Given the description of an element on the screen output the (x, y) to click on. 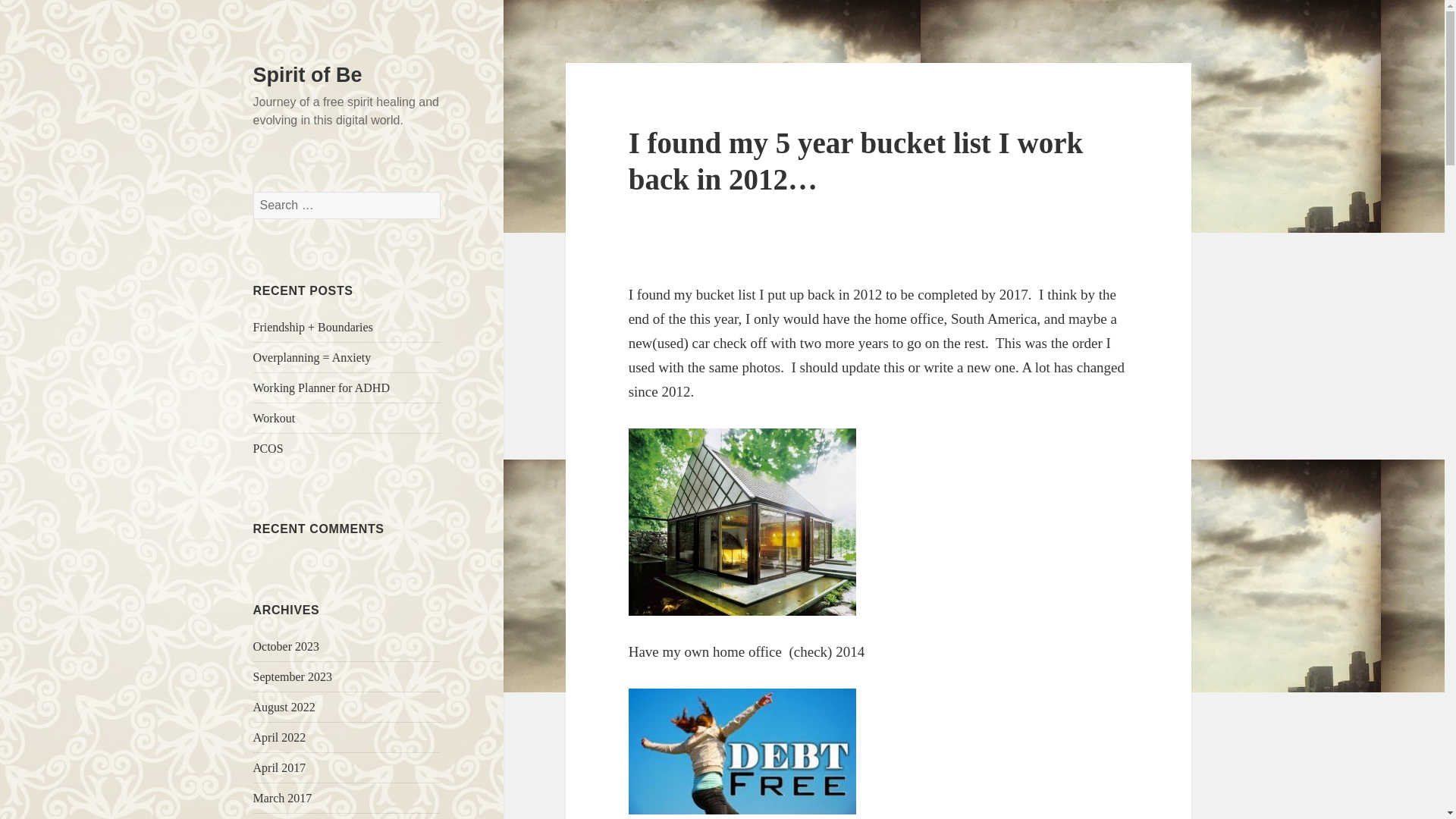
Spirit of Be (307, 74)
April 2017 (279, 767)
September 2023 (292, 676)
March 2017 (283, 797)
October 2023 (286, 645)
PCOS (268, 448)
Workout (274, 418)
